Given the description of an element on the screen output the (x, y) to click on. 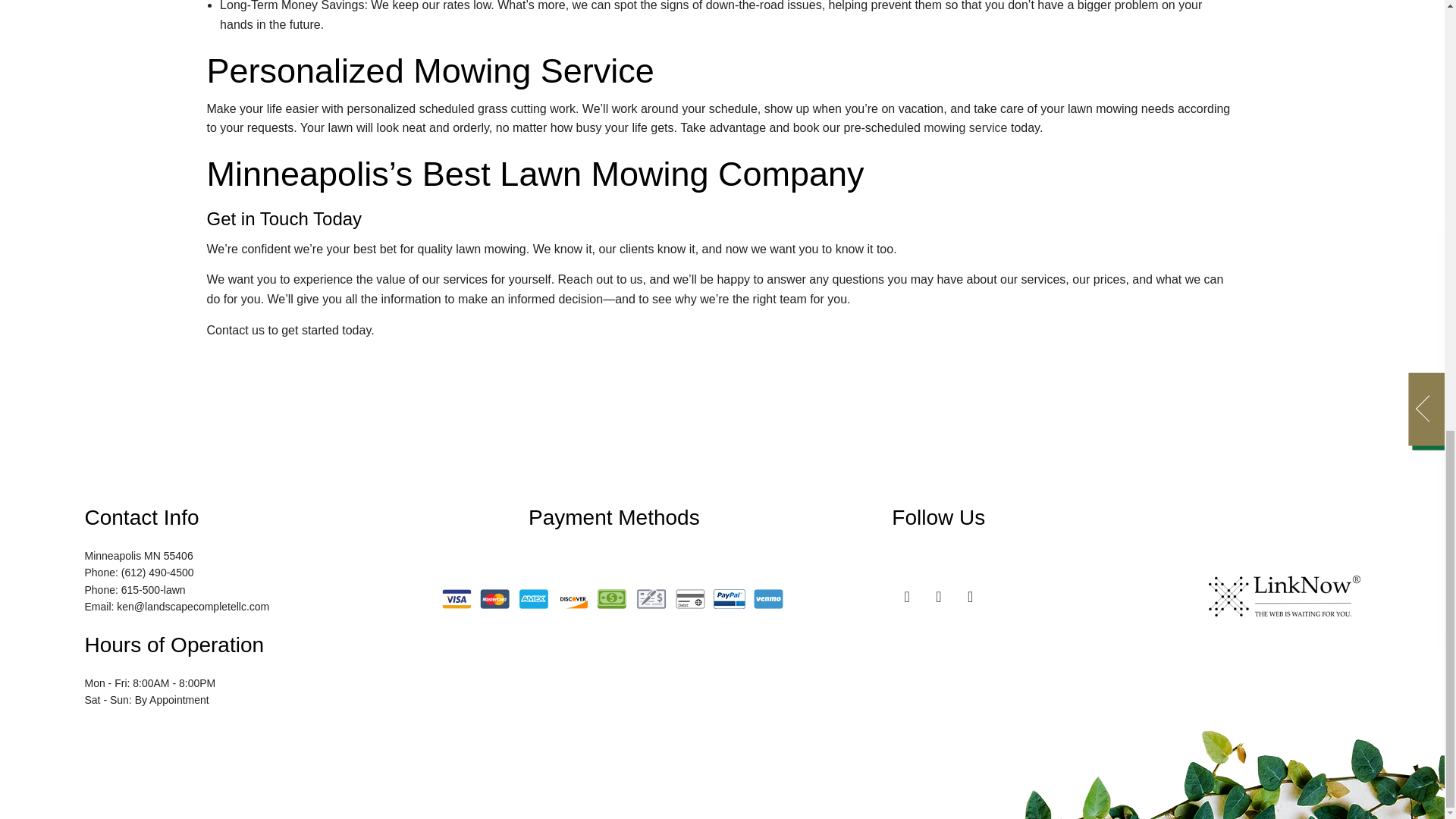
Visa (456, 598)
Check (650, 598)
American Express (534, 598)
Landscaping Company (965, 127)
PayPal (729, 598)
Venmo (768, 598)
Debit Card (690, 598)
Cash (611, 598)
Discover (573, 598)
Mastercard (495, 598)
